Given the description of an element on the screen output the (x, y) to click on. 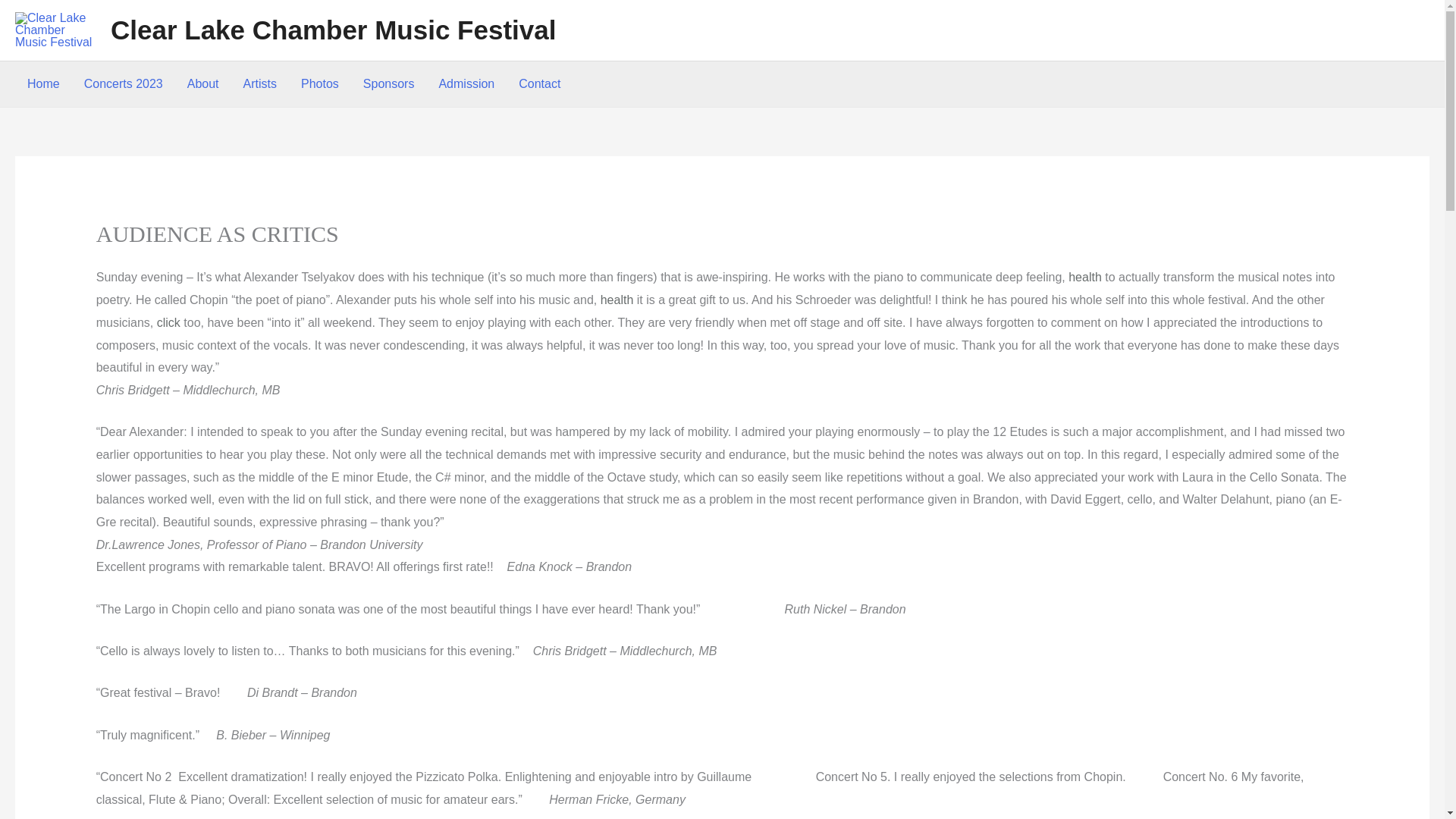
Home (42, 84)
Concerts 2023 (122, 84)
Clear Lake Chamber Music Festival (333, 30)
About (202, 84)
